Given the description of an element on the screen output the (x, y) to click on. 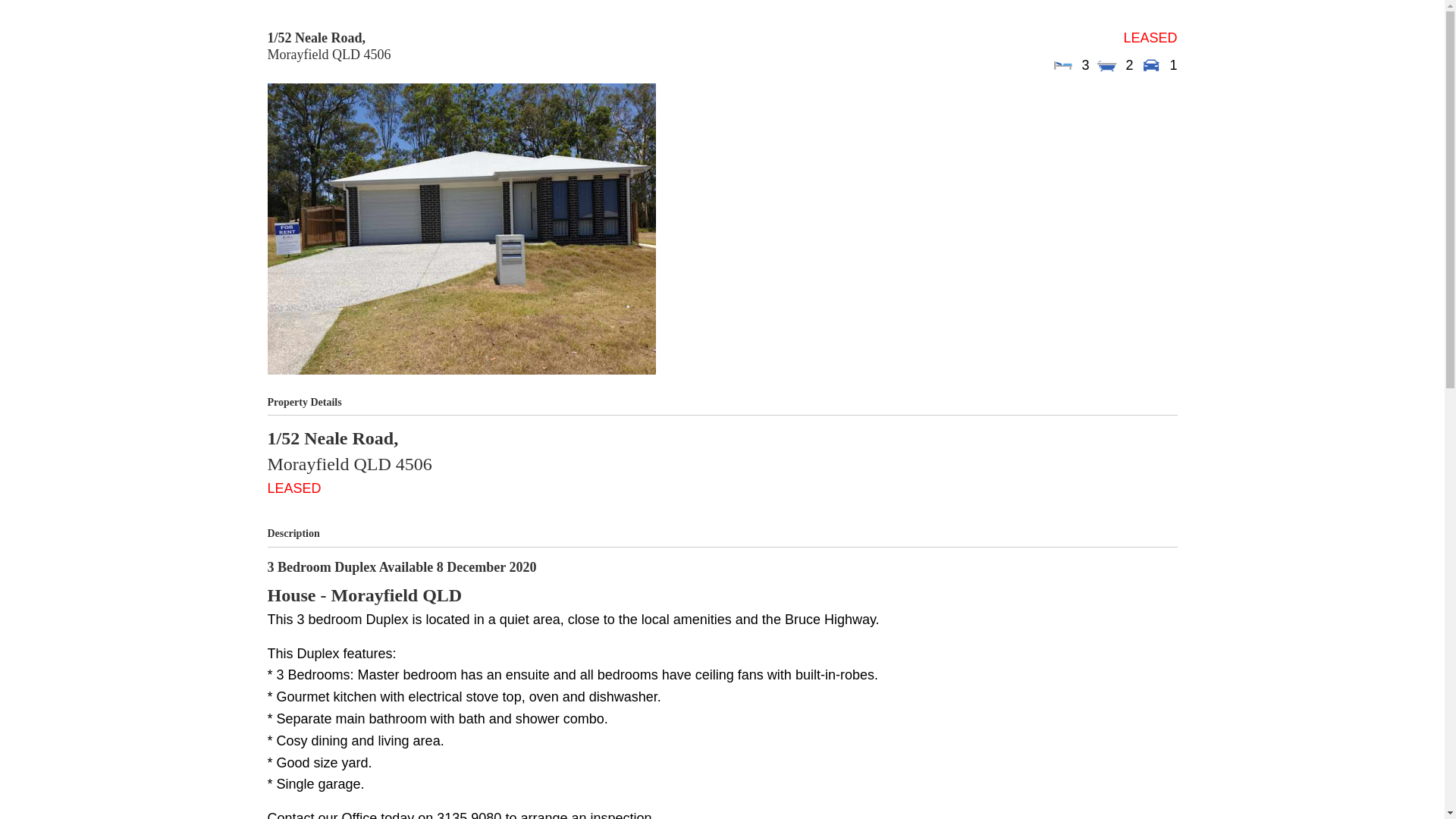
Bedrooms (1062, 65)
Bathrooms (1107, 65)
Parking Spaces (1150, 65)
